Given the description of an element on the screen output the (x, y) to click on. 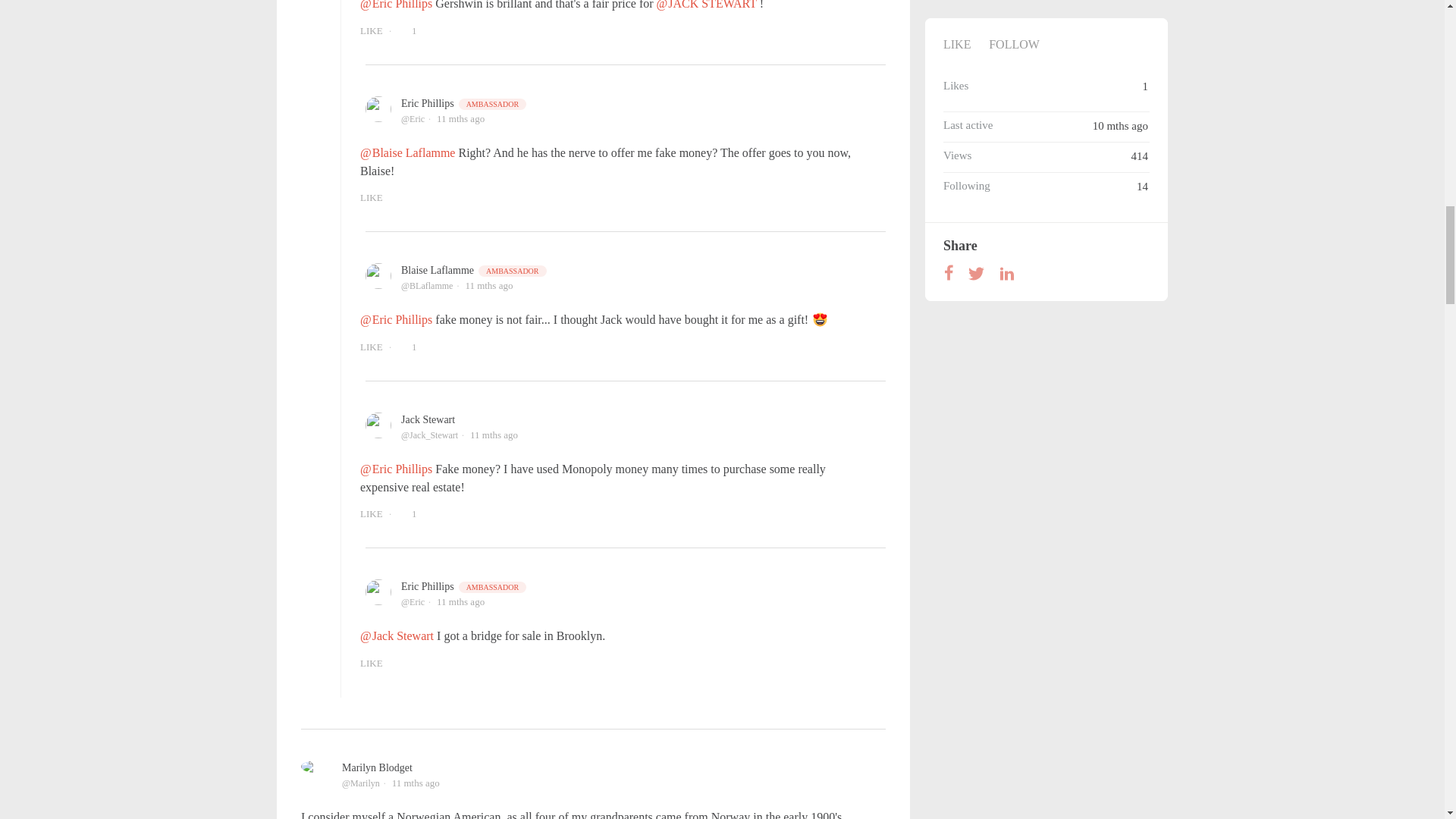
Marilyn Blodget (377, 767)
Jack Stewart (427, 419)
Eric PhillipsAMBASSADOR (464, 586)
Eric PhillipsAMBASSADOR (464, 102)
Blaise LaflammeAMBASSADOR (474, 270)
